Given the description of an element on the screen output the (x, y) to click on. 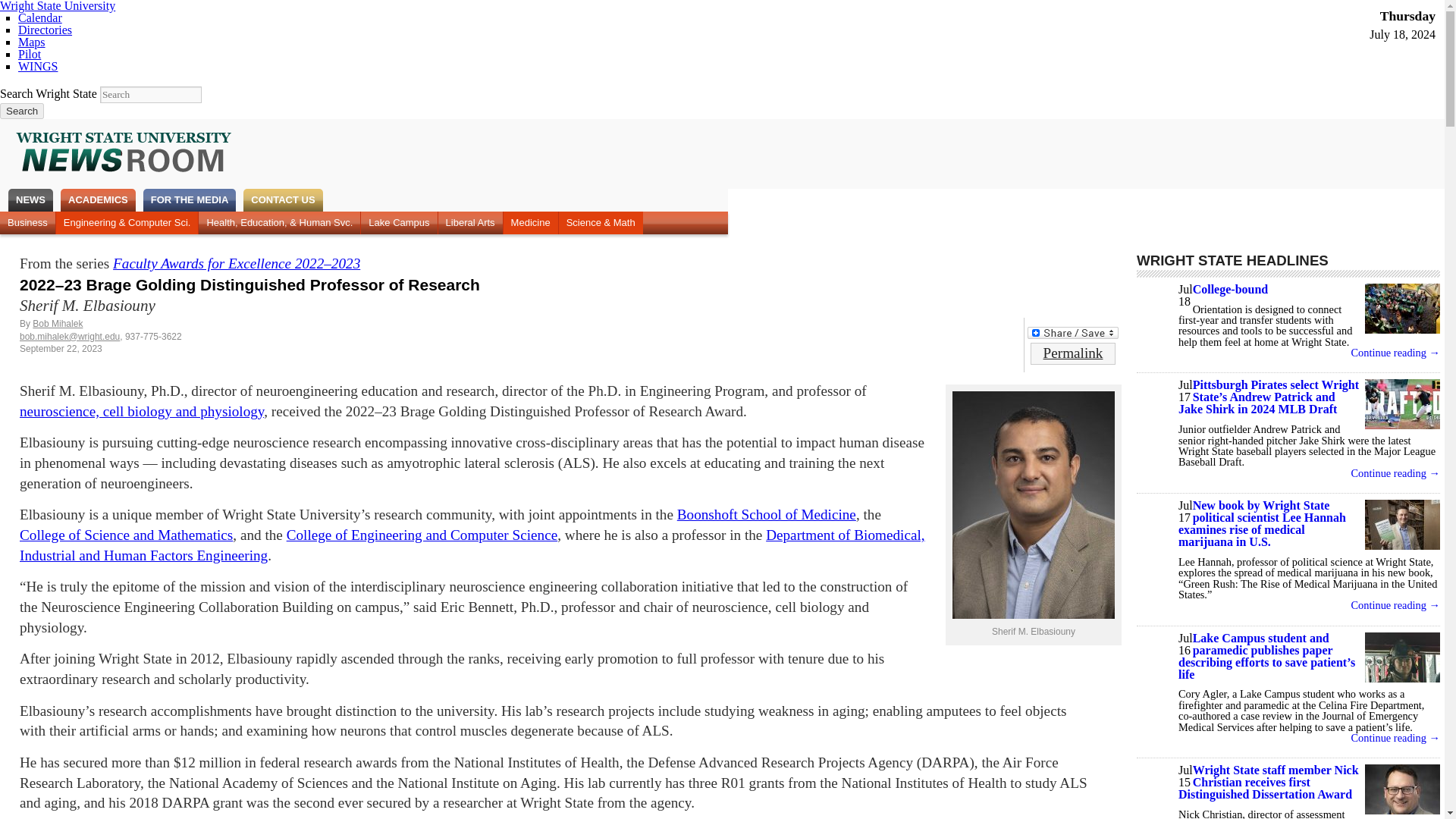
Wright State Newsroom (124, 153)
Posts by Bob Mihalek (57, 323)
Maps (31, 42)
Lake Campus (398, 222)
Business (27, 222)
College of Engineering and Computer Science (421, 534)
Search (21, 110)
Boonshoft School of Medicine (766, 514)
Go to Wright State University home page (57, 6)
FOR THE MEDIA (189, 200)
Liberal Arts (470, 222)
Permalink (1072, 353)
WINGS (37, 65)
Medicine (530, 222)
